Given the description of an element on the screen output the (x, y) to click on. 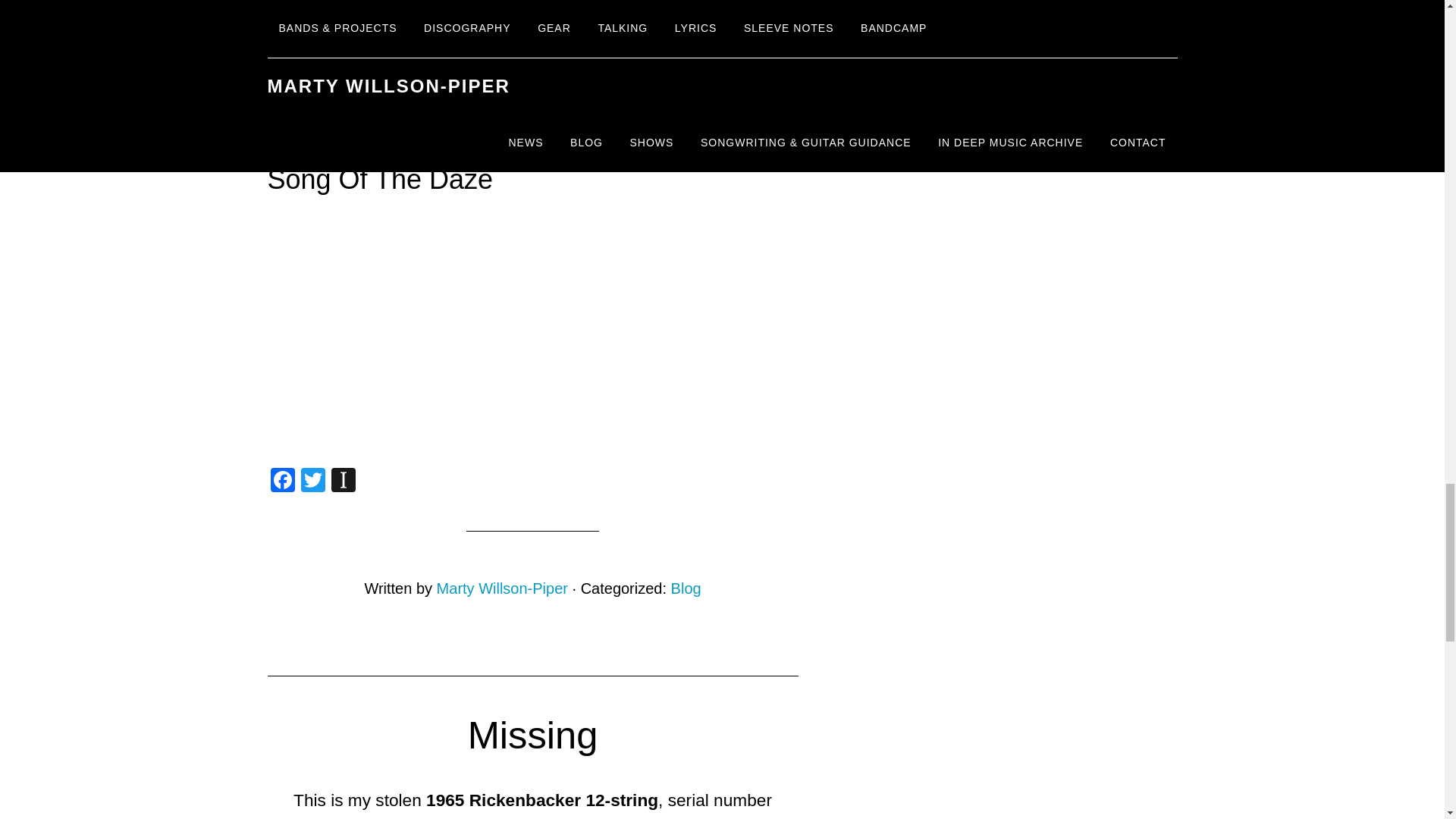
Facebook (281, 481)
Instapaper (342, 481)
Twitter (312, 481)
